Given the description of an element on the screen output the (x, y) to click on. 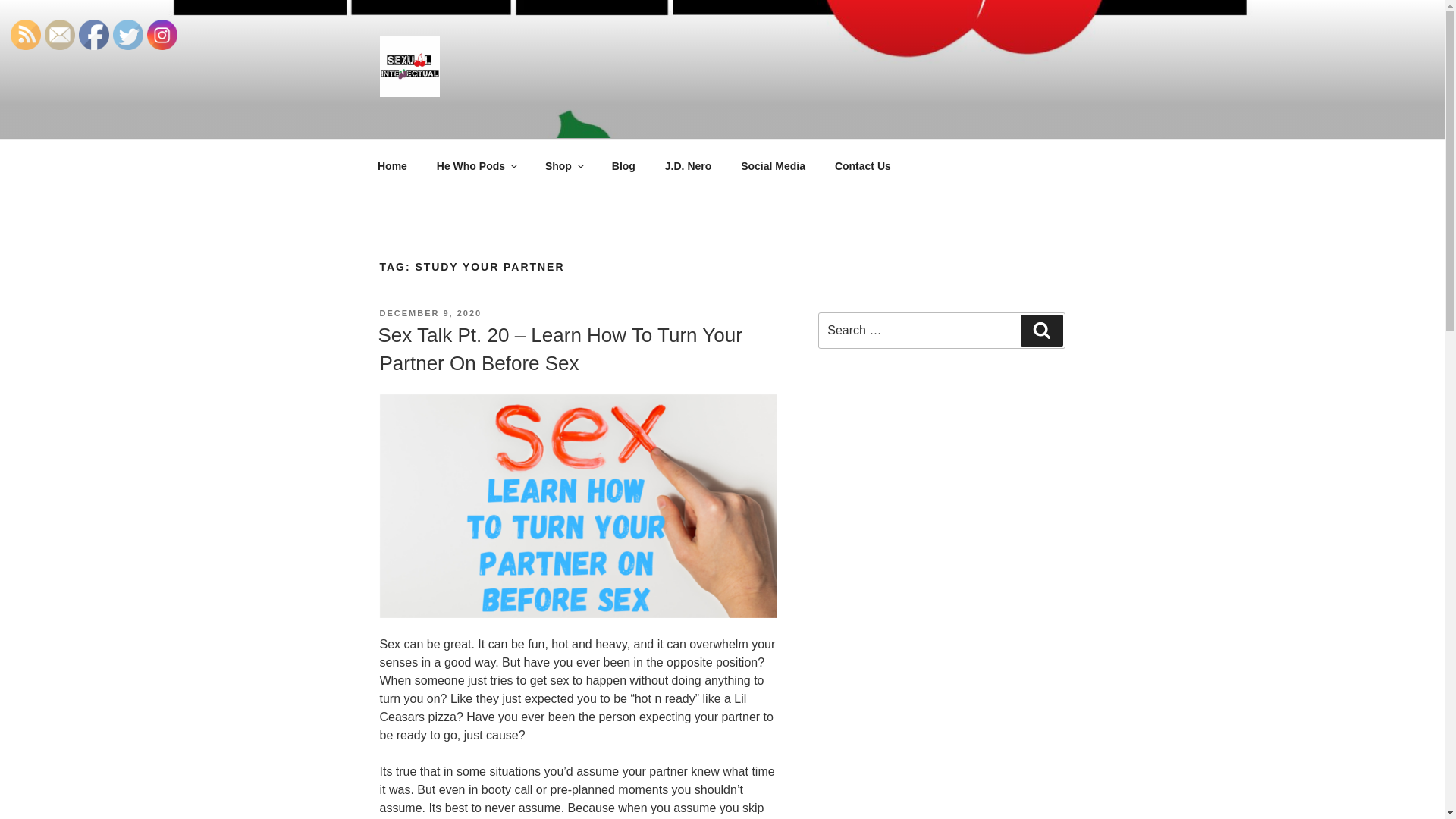
He Who Pods (475, 165)
Blog (622, 165)
DECEMBER 9, 2020 (429, 312)
Twitter (127, 34)
Follow by Email (60, 34)
Facebook (93, 34)
Shop (563, 165)
Contact Us (862, 165)
Search (1041, 330)
Social Media (773, 165)
